Given the description of an element on the screen output the (x, y) to click on. 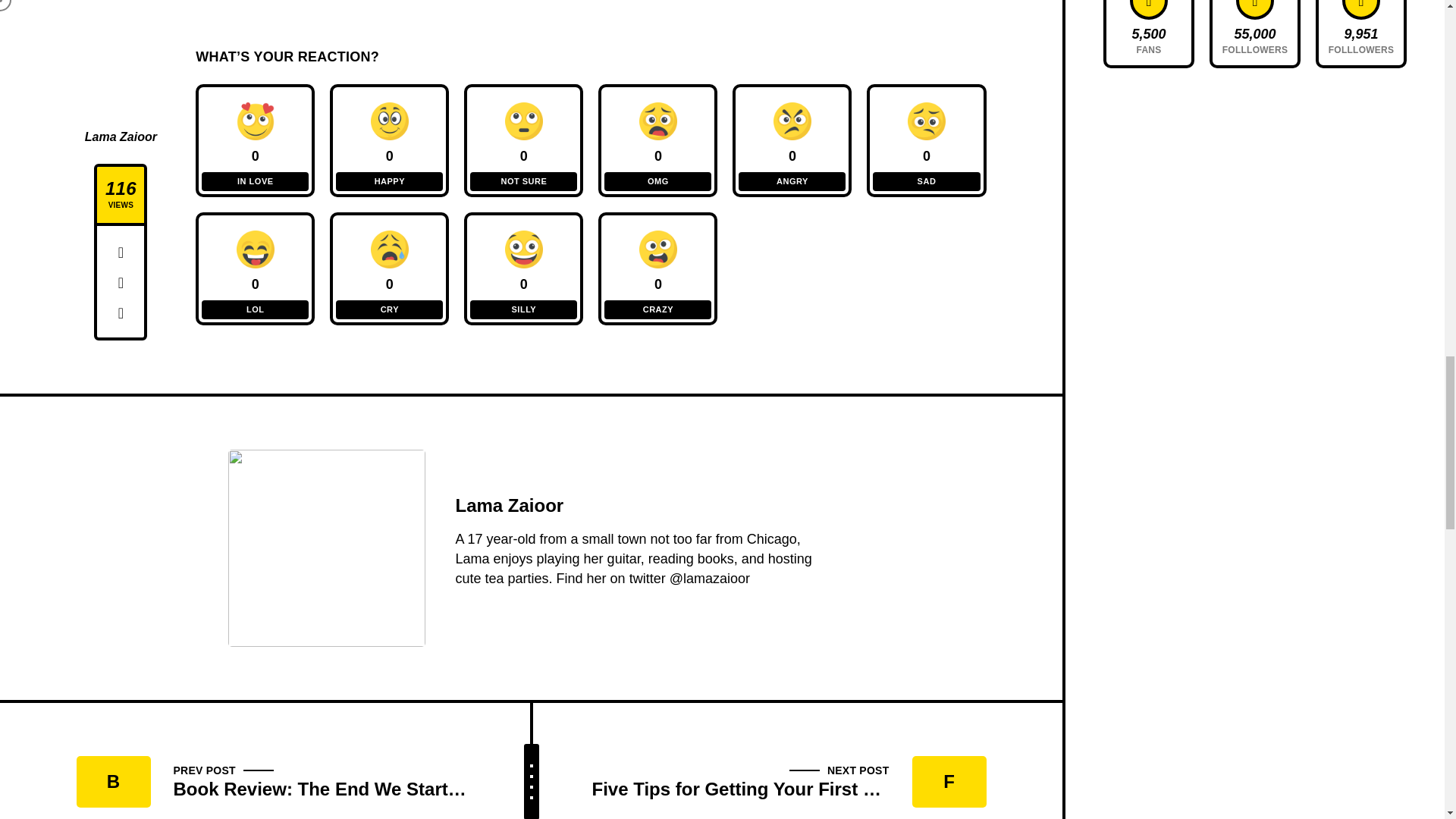
Book Review: The End We Start From - Megan Hunter (298, 760)
Five Tips for Getting Your First Tattoo (761, 760)
